Given the description of an element on the screen output the (x, y) to click on. 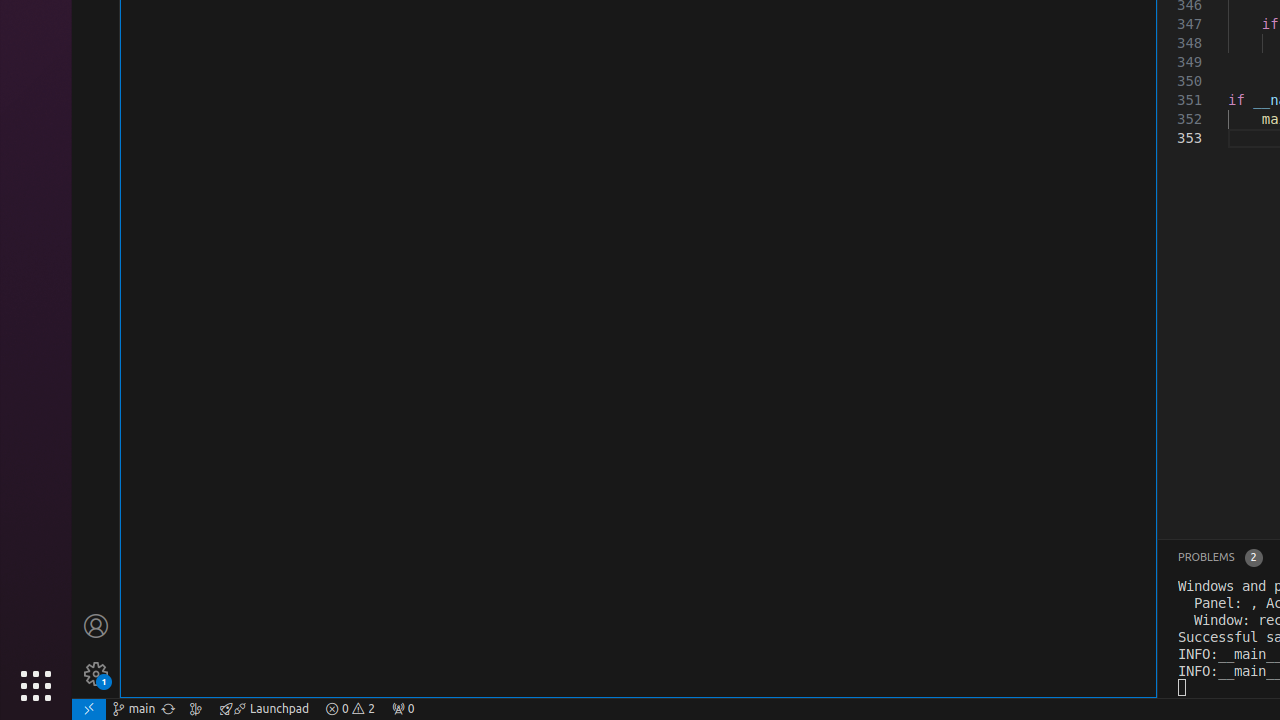
Accounts Element type: push-button (96, 626)
